Given the description of an element on the screen output the (x, y) to click on. 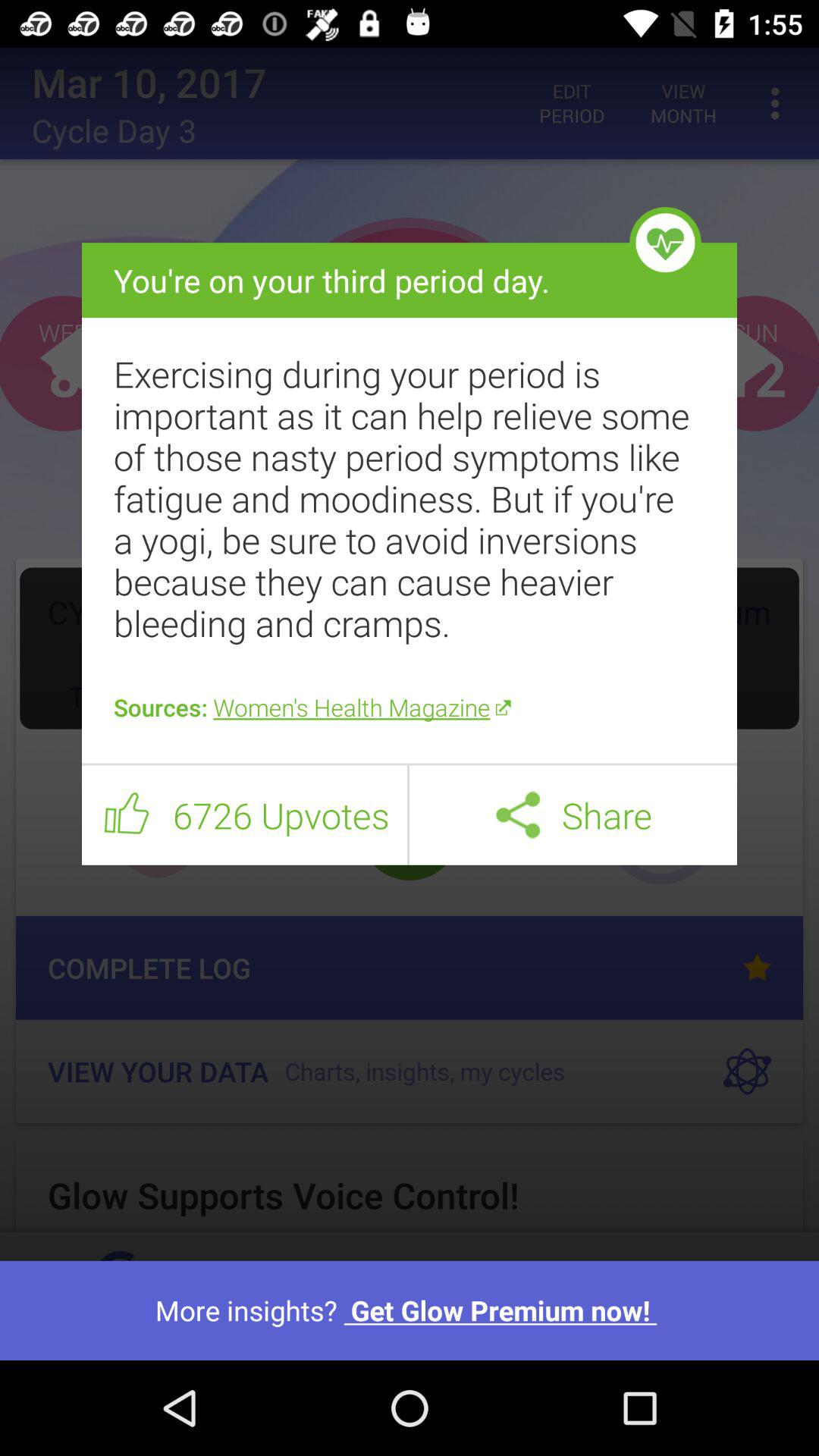
select item below the you re on icon (409, 498)
